Given the description of an element on the screen output the (x, y) to click on. 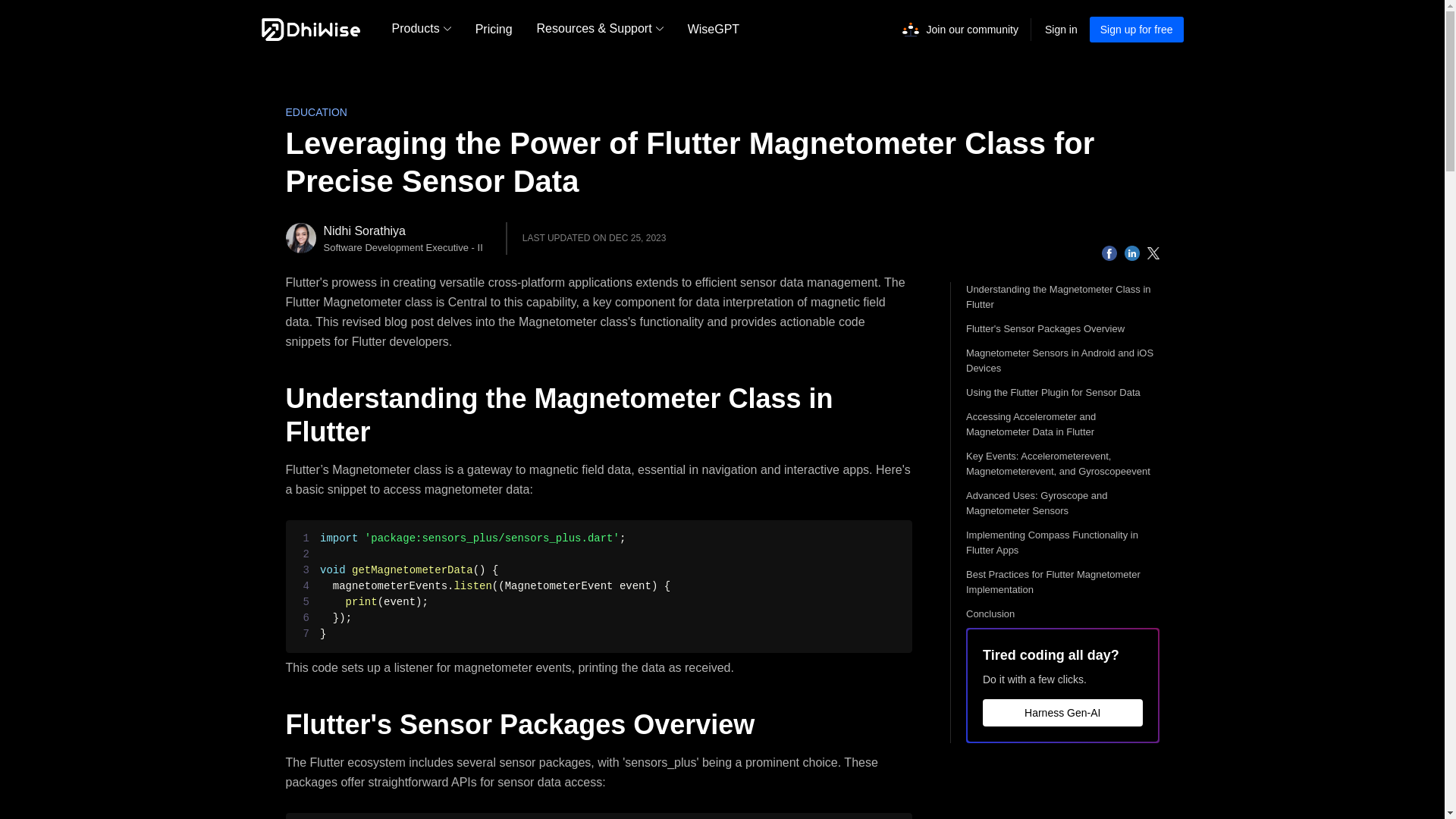
Understanding the Magnetometer Class in Flutter (1062, 296)
Advanced Uses: Gyroscope and Magnetometer Sensors (1062, 503)
Conclusion (1062, 613)
Harness Gen-AI (1062, 712)
Using the Flutter Plugin for Sensor Data (1062, 392)
Sign in (1061, 29)
Pricing (493, 29)
Best Practices for Flutter Magnetometer Implementation (1062, 582)
Magnetometer Sensors in Android and iOS Devices (1062, 360)
WiseGPT (713, 29)
